Given the description of an element on the screen output the (x, y) to click on. 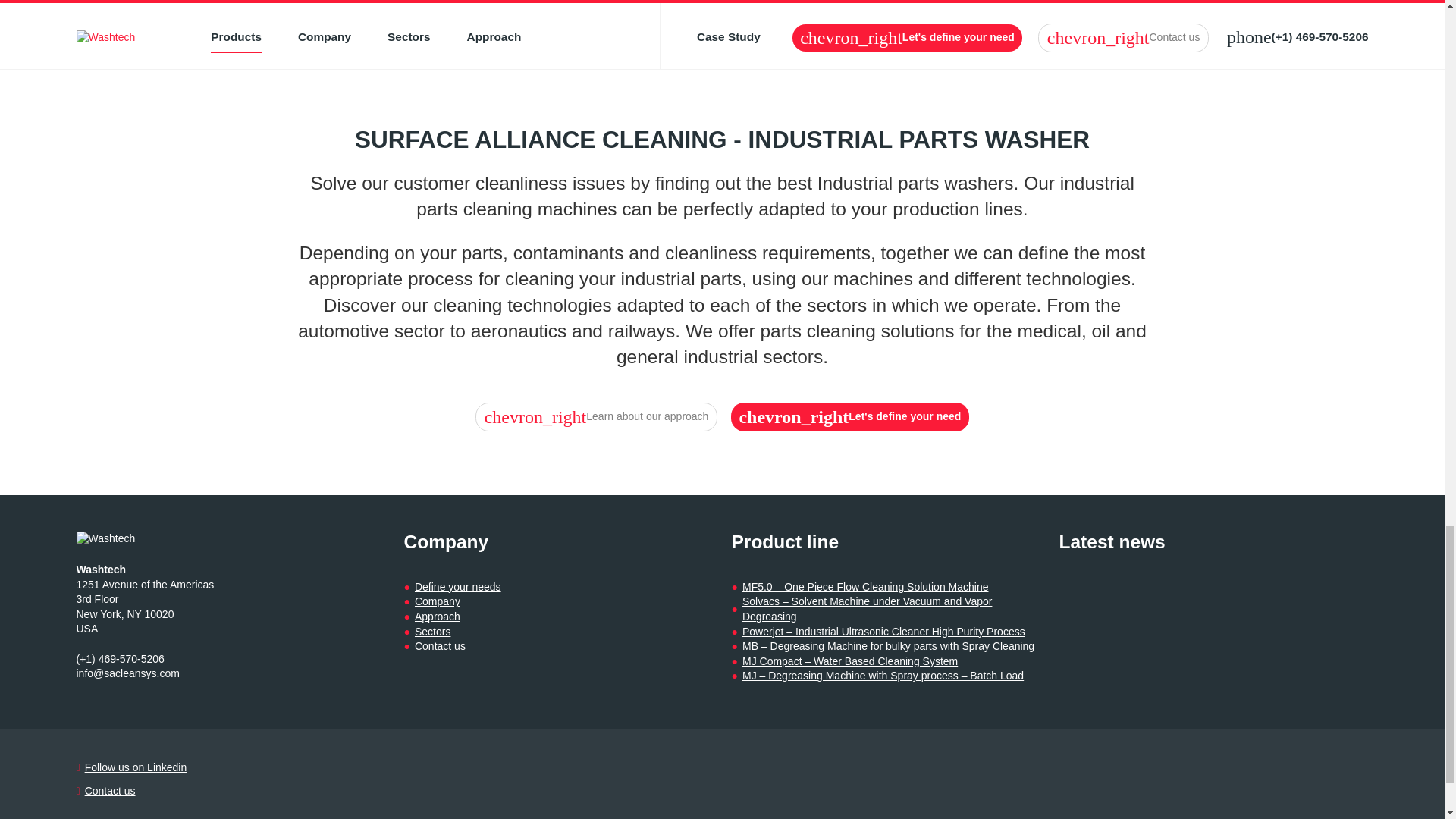
Contact us (109, 791)
Approach (437, 616)
one-piece flow cleaning machines (1259, 26)
Define your needs (457, 587)
Contact us (439, 646)
Follow us on Linkedin (135, 767)
Company (437, 601)
MJ Compact (616, 26)
Sectors (431, 631)
Batch cleaning machines (1109, 11)
